Given the description of an element on the screen output the (x, y) to click on. 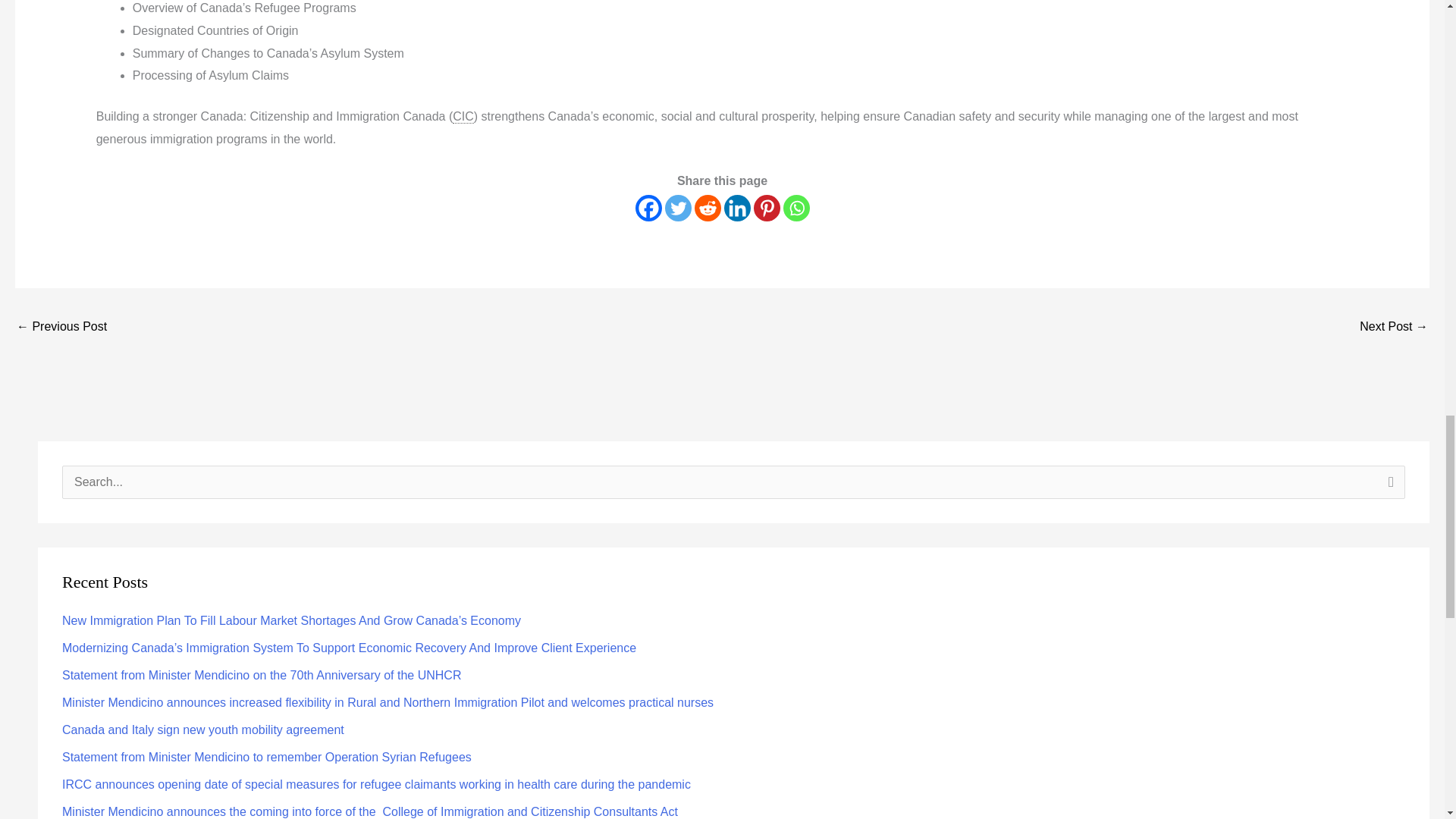
Search (1388, 486)
Reddit (707, 207)
Search (1388, 486)
Twitter (676, 207)
Pinterest (767, 207)
Facebook (648, 207)
Linkedin (736, 207)
